Given the description of an element on the screen output the (x, y) to click on. 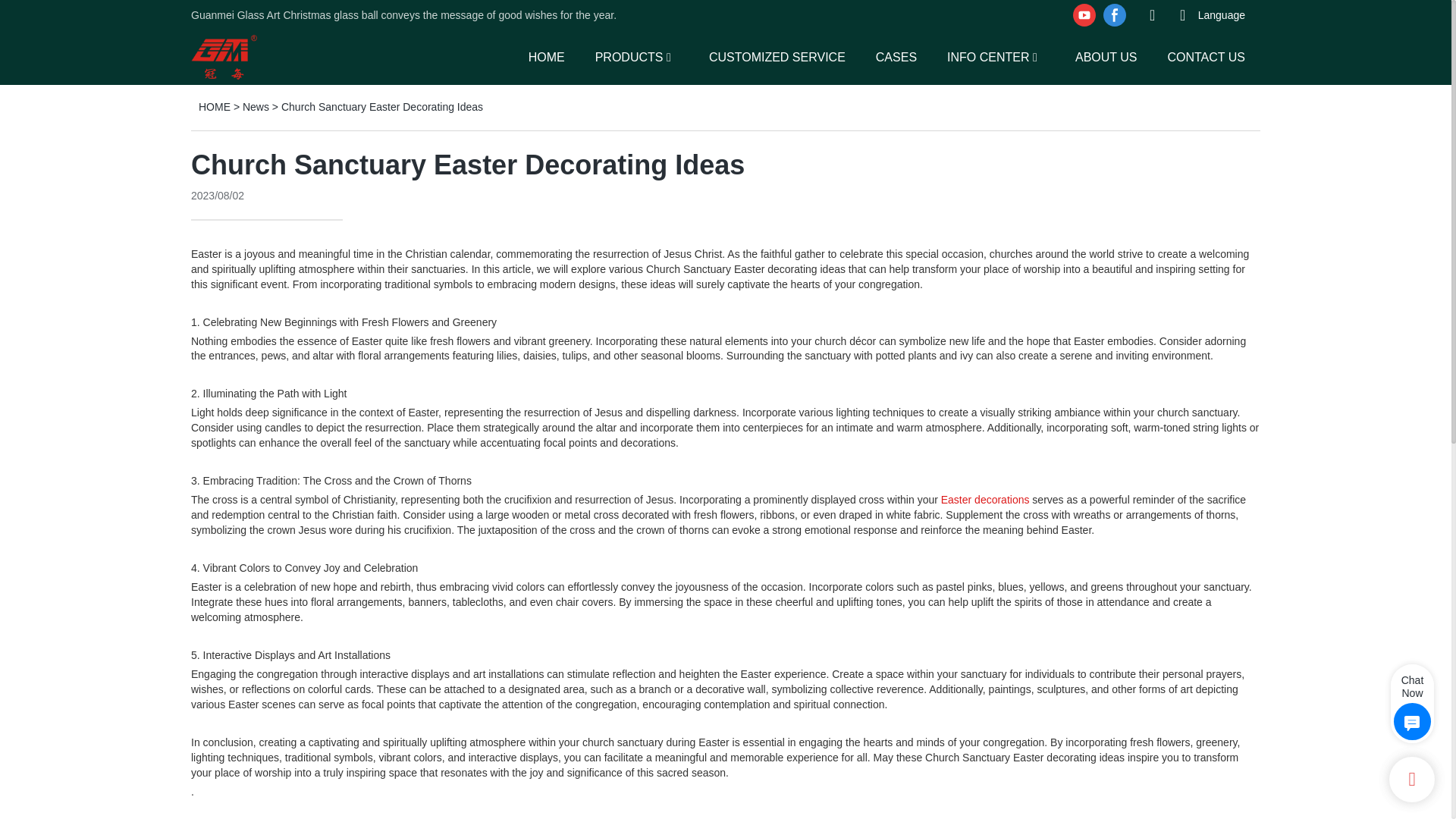
PRODUCTS (629, 56)
youtube (1083, 15)
Easter decorations (984, 499)
HOME (546, 56)
facebook (1114, 15)
